Given the description of an element on the screen output the (x, y) to click on. 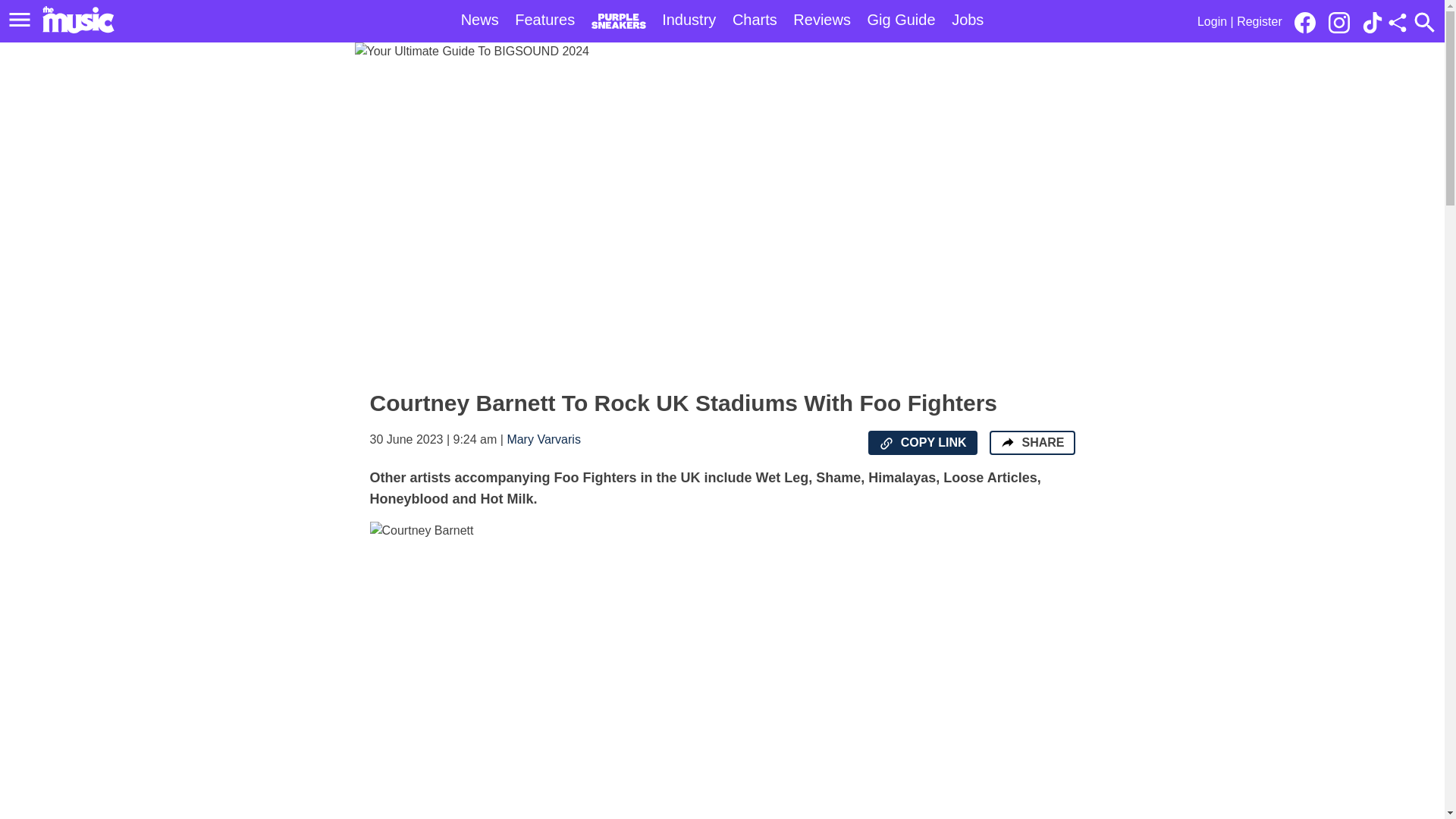
Open the site search menu (1424, 22)
Mary Varvaris (543, 439)
Industry (689, 19)
Share this page (1397, 22)
Copy the page URL (886, 443)
Open the main menu (22, 19)
Link to our Instagram (1338, 22)
Features (545, 19)
Register (1259, 21)
Link to our Instagram (1342, 21)
